Given the description of an element on the screen output the (x, y) to click on. 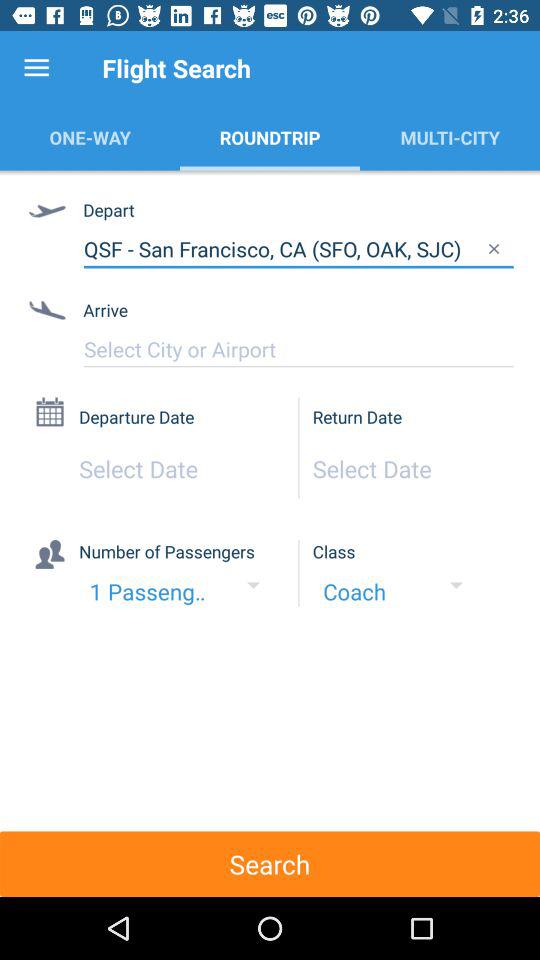
type your arrival (298, 349)
